Given the description of an element on the screen output the (x, y) to click on. 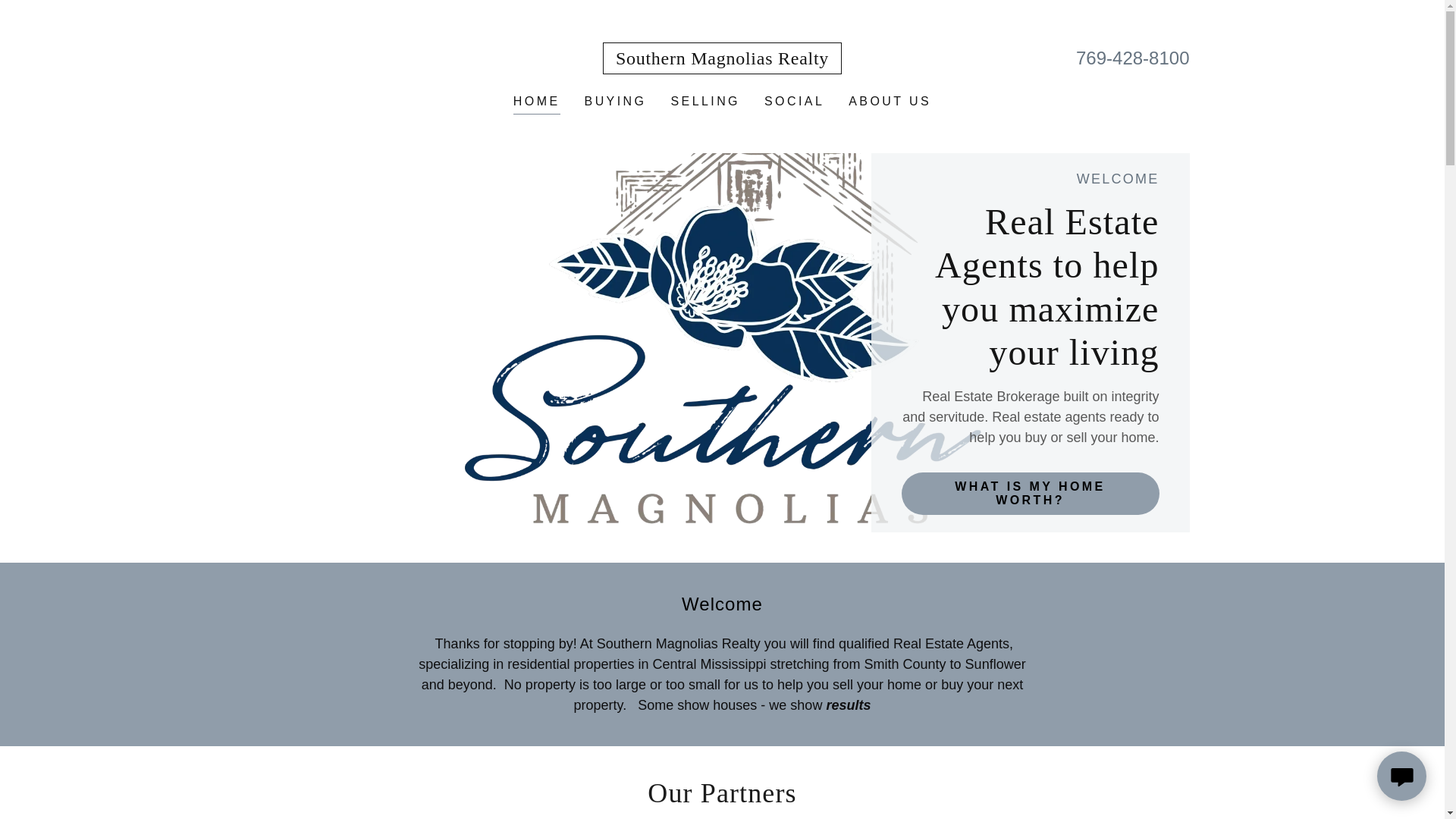
WHAT IS MY HOME WORTH? (1029, 493)
HOME (536, 103)
SOCIAL (794, 101)
Southern Magnolias Realty (721, 59)
ABOUT US (890, 101)
769-428-8100 (1132, 57)
BUYING (614, 101)
SELLING (704, 101)
Southern Magnolias Realty (721, 59)
